Given the description of an element on the screen output the (x, y) to click on. 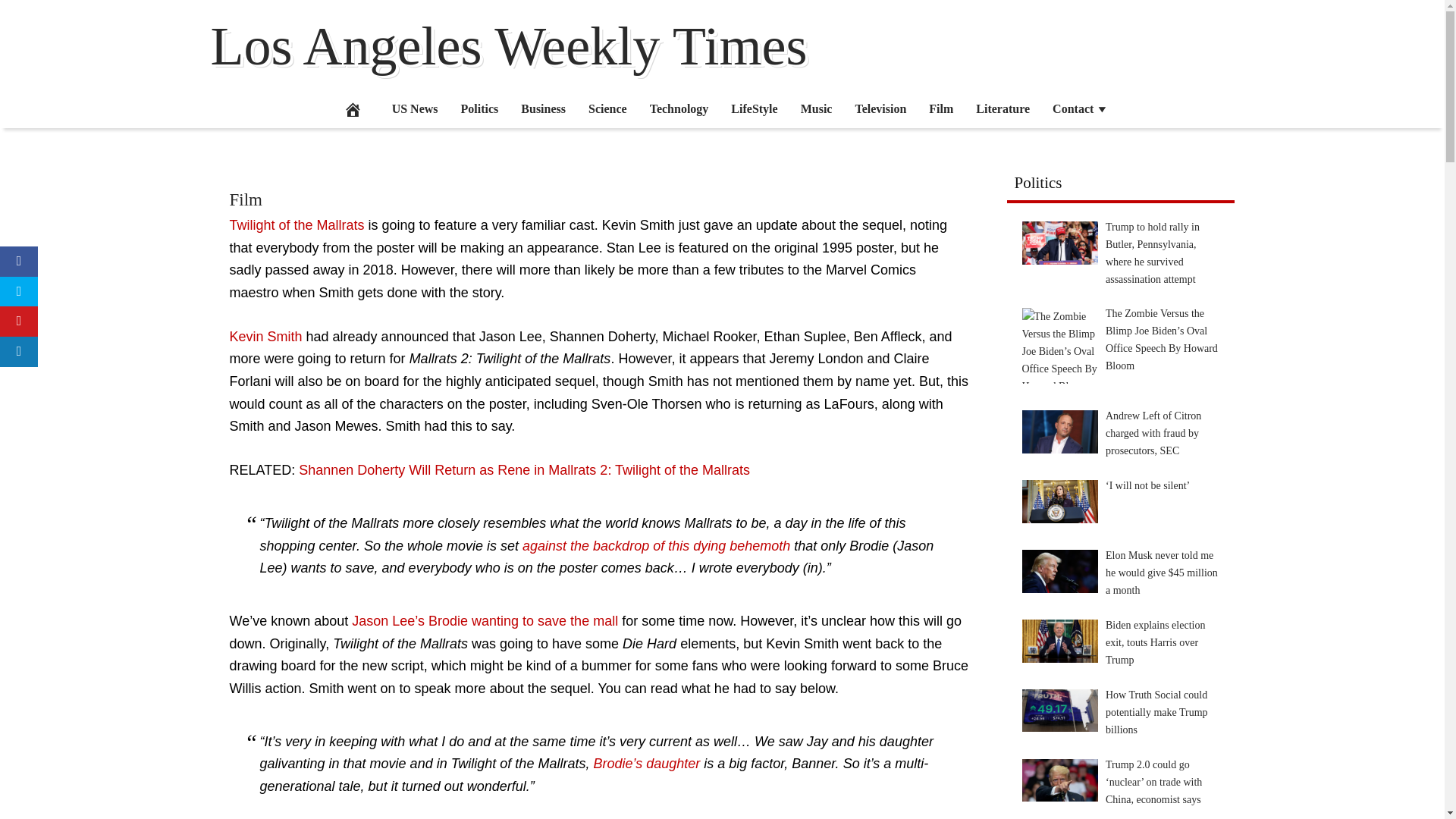
US News (414, 108)
Literature (1002, 108)
Politics (480, 108)
Film (940, 108)
Technology (679, 108)
LifeStyle (754, 108)
Contact (1080, 108)
Los Angeles Weekly Times (509, 45)
Biden explains election exit, touts Harris over Trump (1059, 640)
Film (245, 199)
Business (542, 108)
Andrew Left of Citron charged with fraud by prosecutors, SEC (1059, 431)
Science (607, 108)
Elon Musk never told me he would give  million a month (1059, 570)
